Given the description of an element on the screen output the (x, y) to click on. 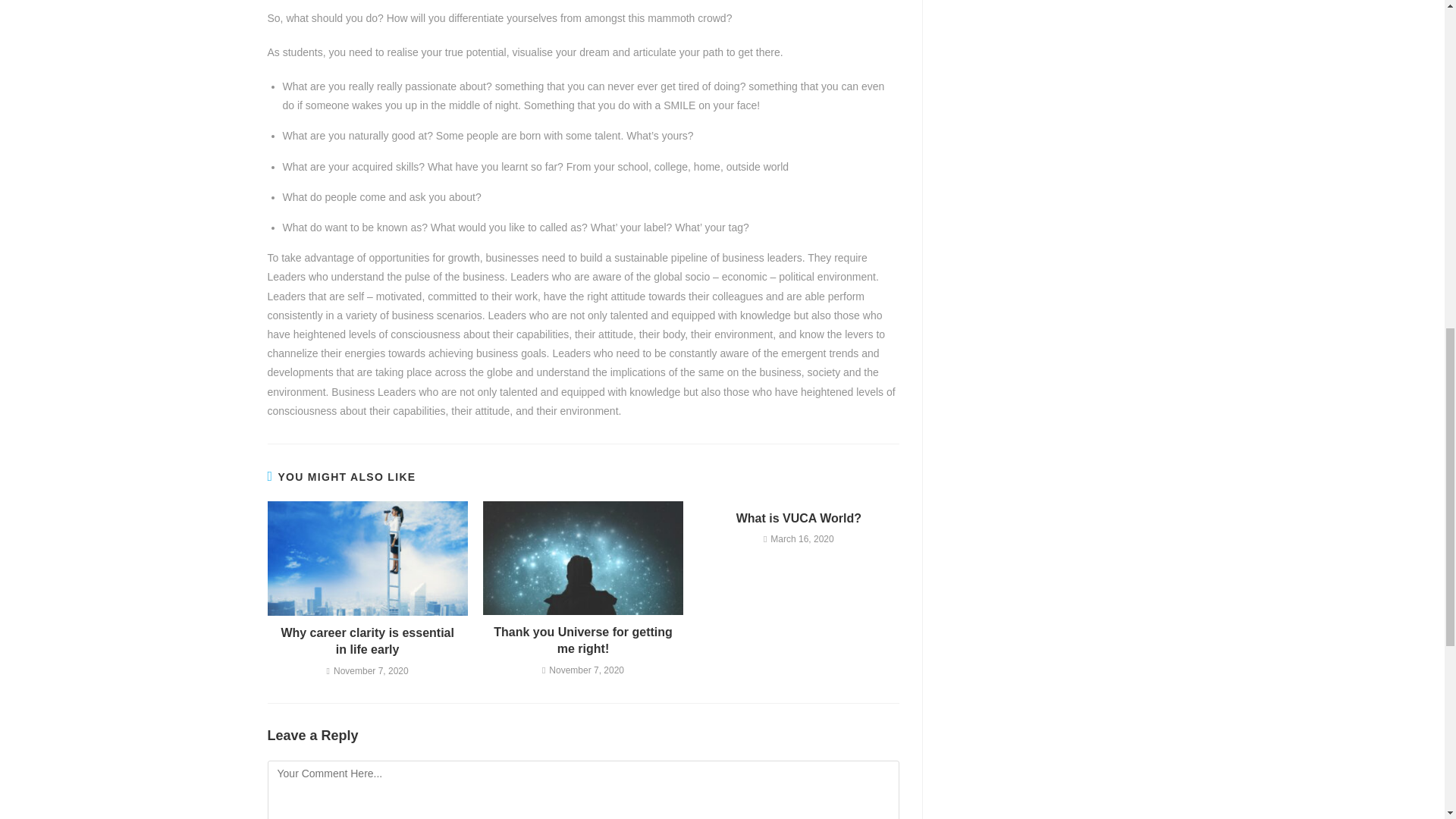
Why career clarity is essential in life early (367, 641)
Thank you Universe for getting me right! (583, 641)
What is VUCA World? (798, 518)
Why career clarity is essential in life early (367, 641)
What is VUCA World? (798, 518)
Thank you Universe for getting me right! (583, 641)
